Given the description of an element on the screen output the (x, y) to click on. 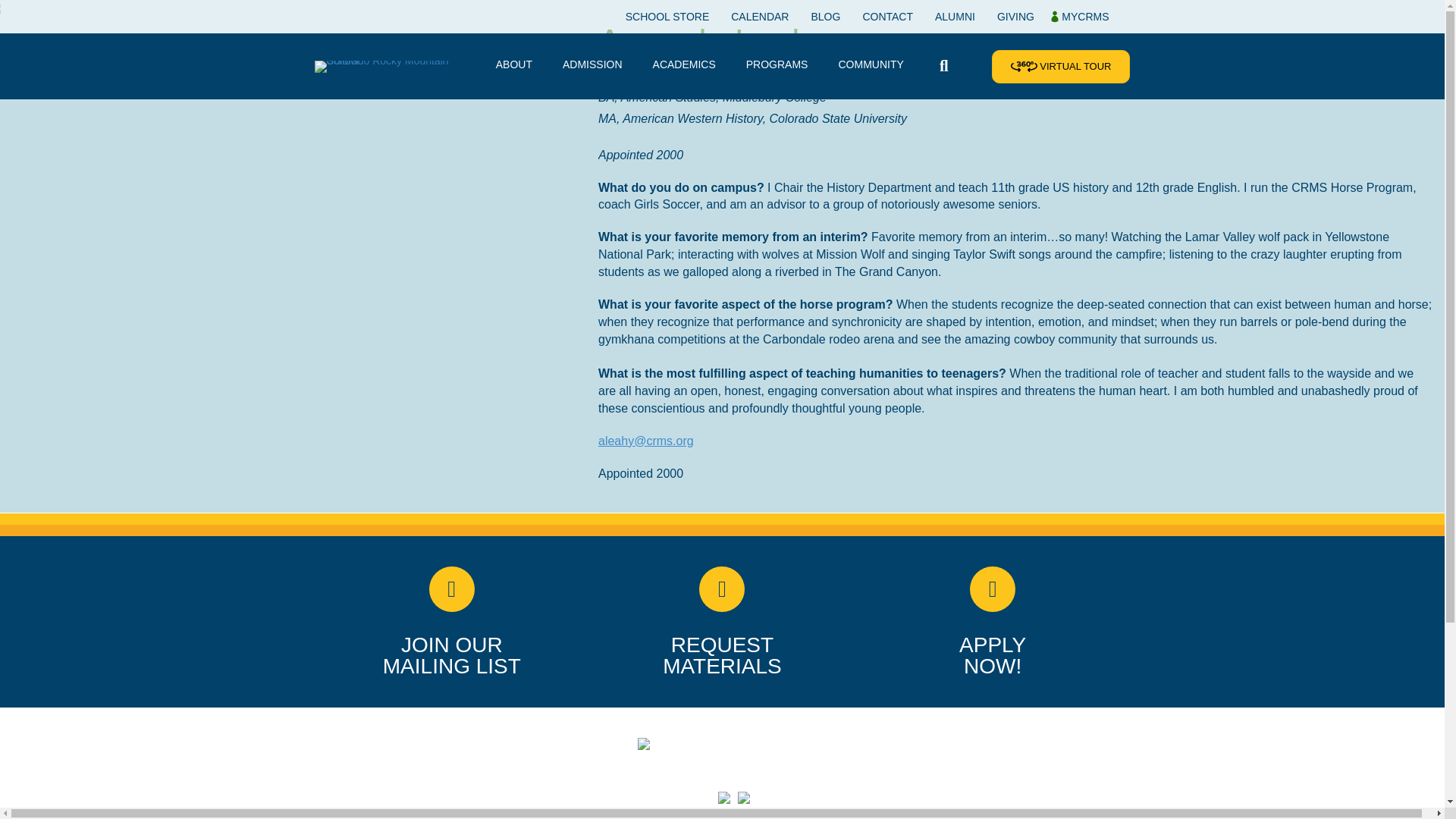
BLOG (824, 16)
CONTACT (887, 16)
Vector Smart Object2 copy (722, 743)
CALENDAR (759, 16)
SCHOOL STORE (666, 16)
CRMSHEADERLOGO (386, 66)
ALUMNI (954, 16)
MYCRMS (1079, 16)
GIVING (1016, 16)
